Given the description of an element on the screen output the (x, y) to click on. 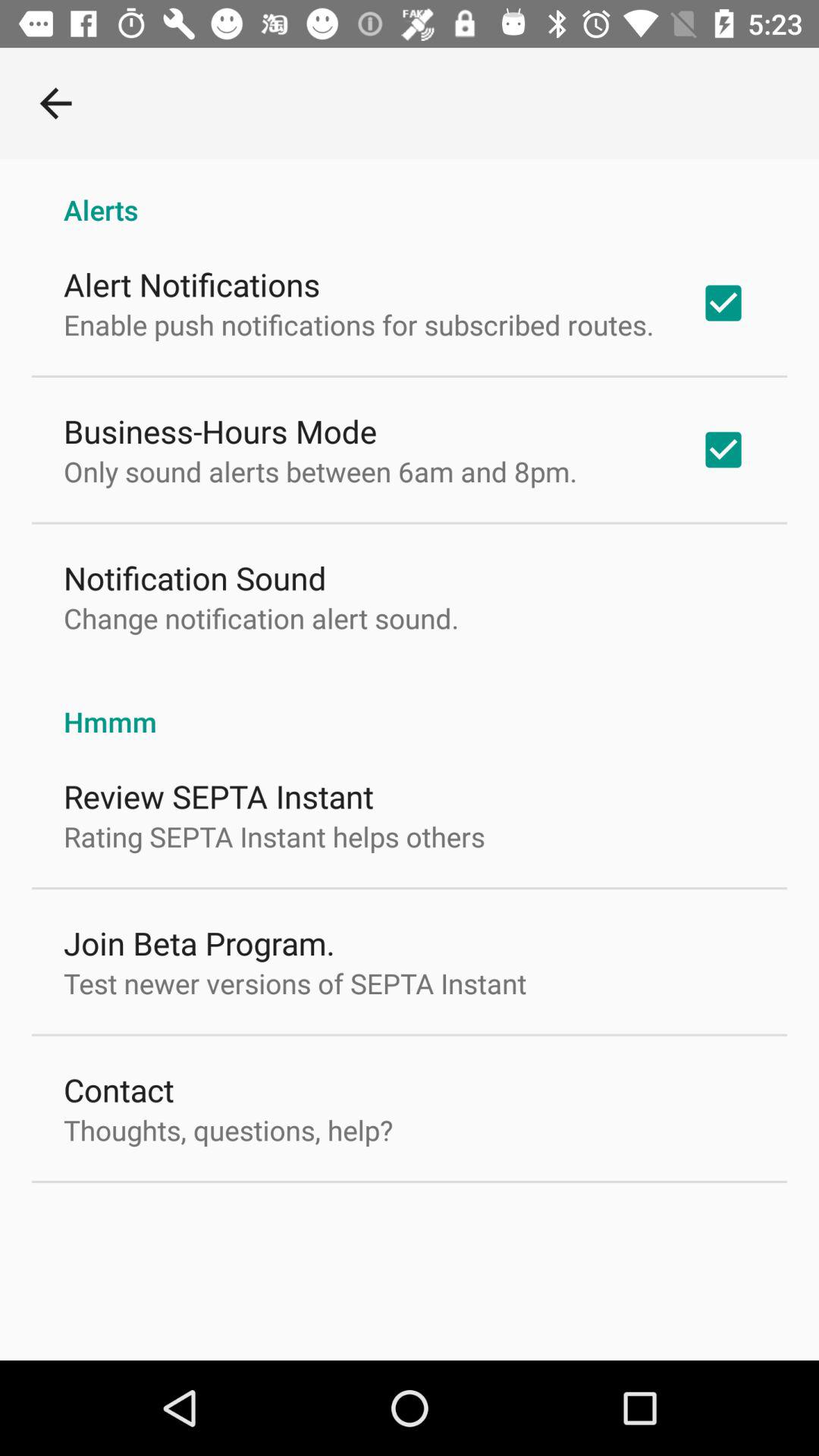
turn off the item below the join beta program. item (294, 983)
